Given the description of an element on the screen output the (x, y) to click on. 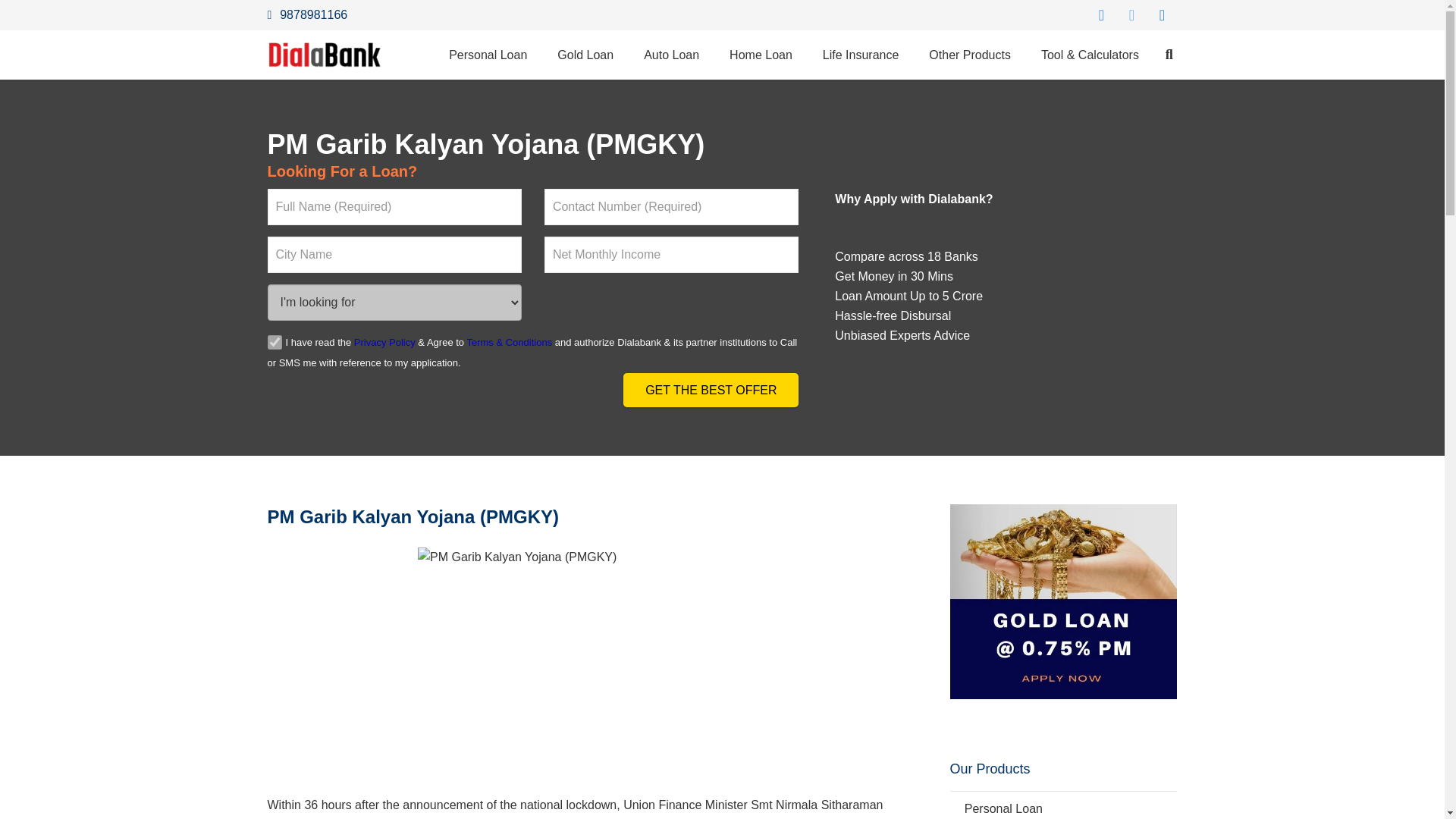
9878981166 (306, 14)
Auto Loan (671, 54)
Facebook (1101, 15)
Personal Loan (487, 54)
LinkedIn (1162, 15)
Twitter (1131, 15)
Life Insurance (861, 54)
Other Products (970, 54)
Home Loan (761, 54)
Privacy Policy (383, 342)
